Given the description of an element on the screen output the (x, y) to click on. 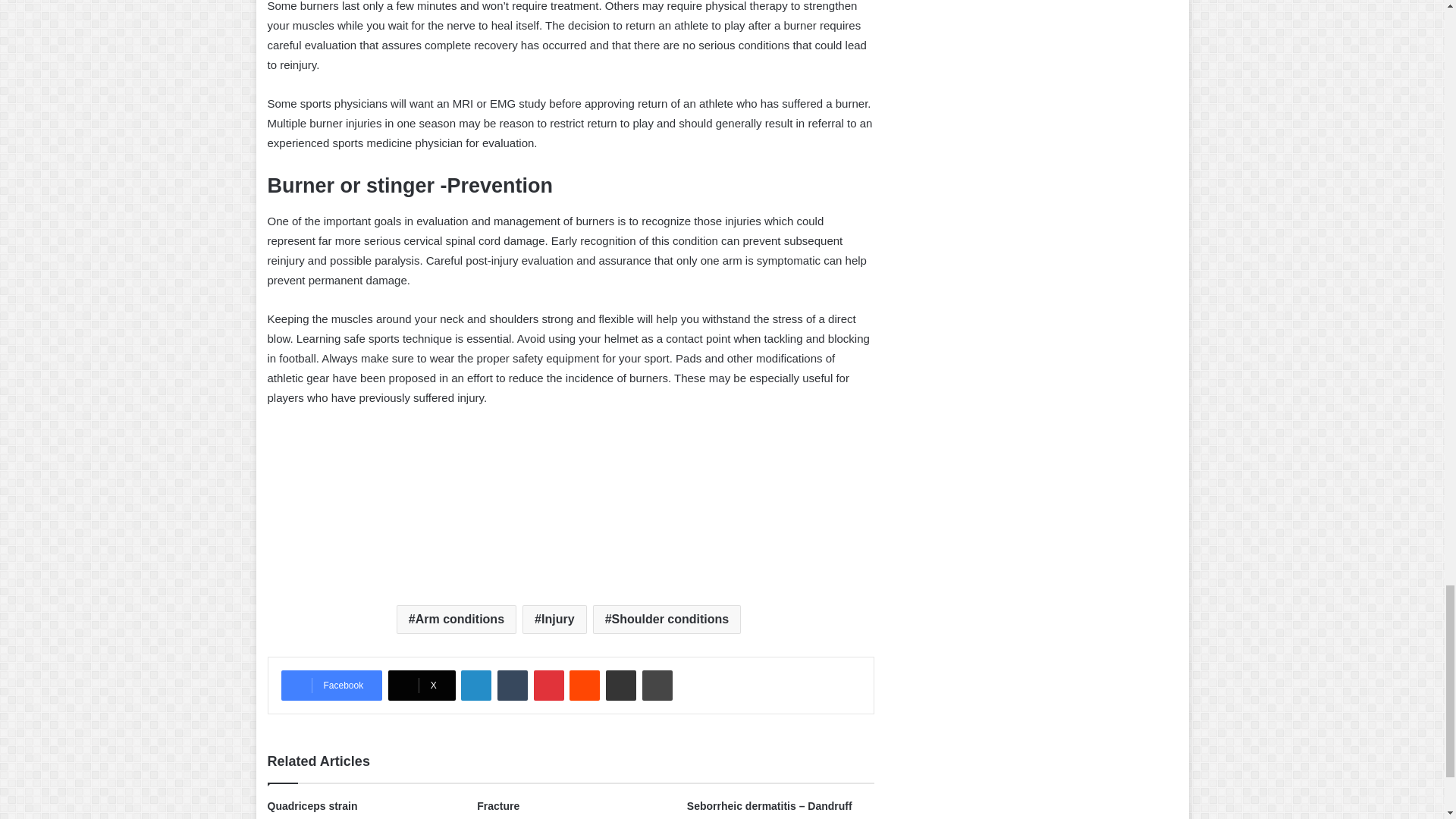
Tumblr (512, 685)
Facebook (331, 685)
Reddit (584, 685)
X (421, 685)
LinkedIn (476, 685)
Injury (554, 619)
Pinterest (549, 685)
Share via Email (620, 685)
Print (657, 685)
Shoulder conditions (666, 619)
Facebook (331, 685)
Arm conditions (456, 619)
